Given the description of an element on the screen output the (x, y) to click on. 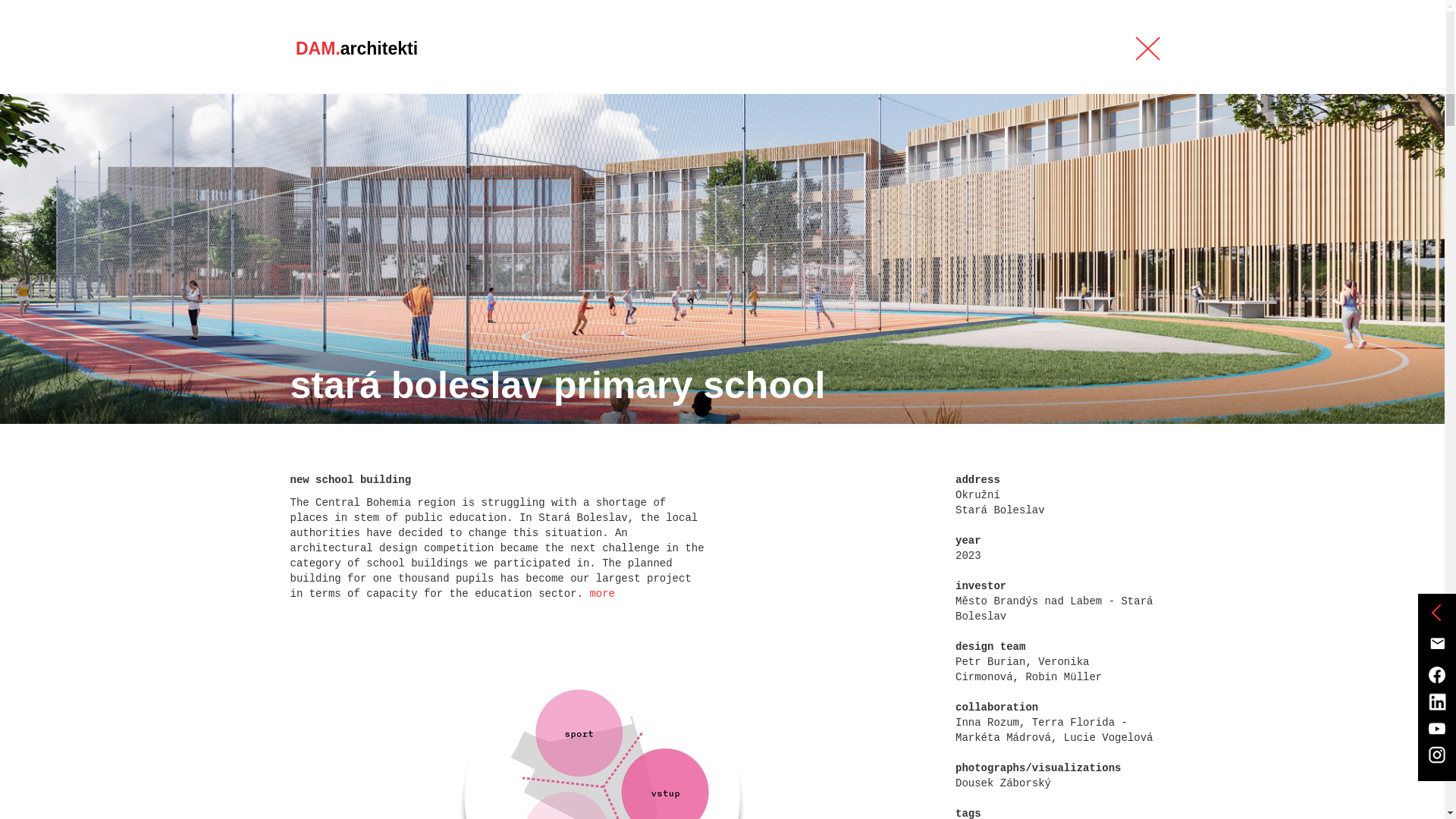
small (761, 196)
blog (821, 48)
portfolio (738, 48)
study (433, 196)
contact (1064, 48)
big (714, 196)
academy (977, 48)
reconstruction (639, 196)
office (895, 48)
introduction (629, 48)
all (302, 196)
realized (370, 196)
new-construction (521, 196)
DAM.architekti (356, 46)
